Given the description of an element on the screen output the (x, y) to click on. 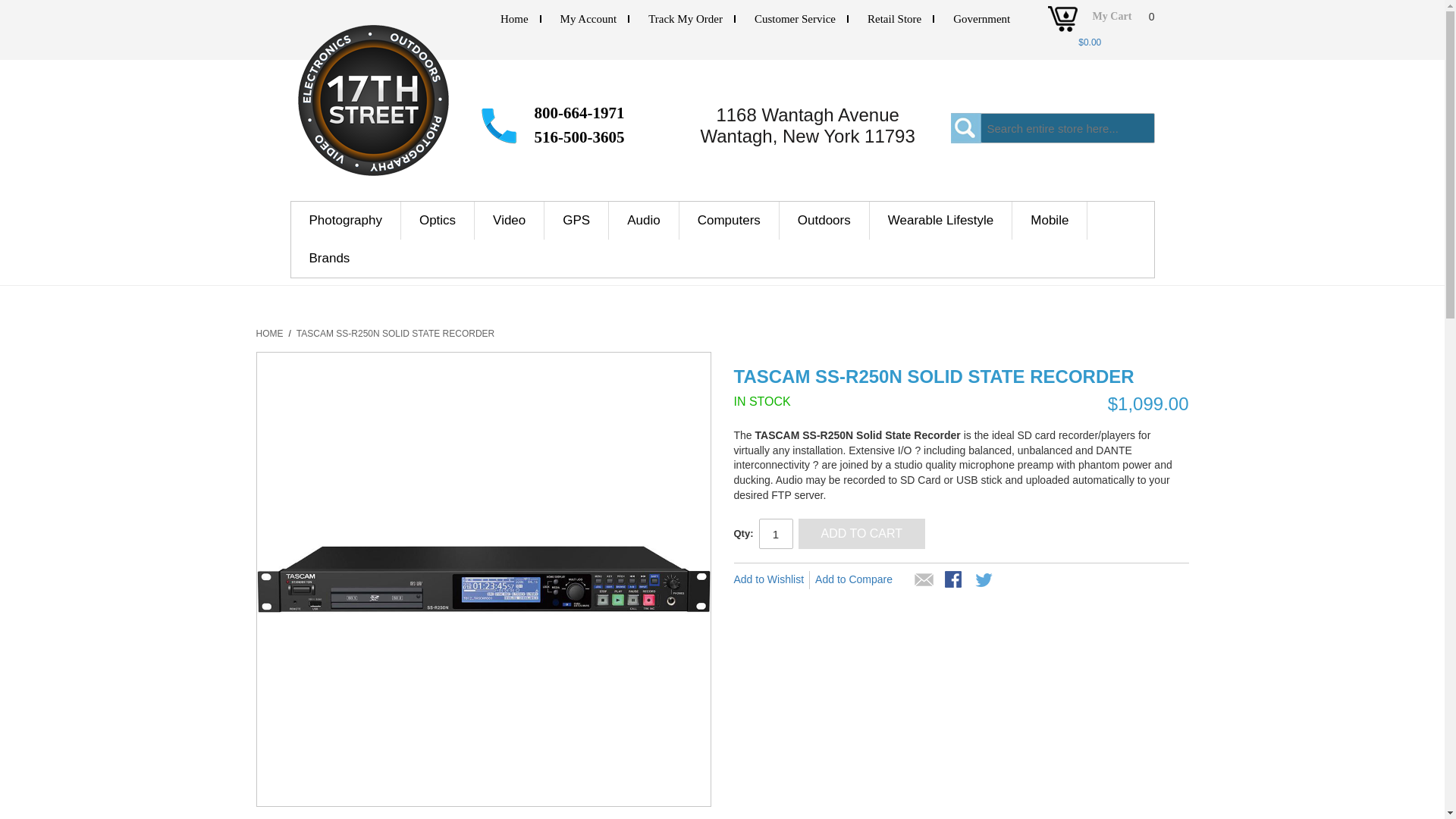
Track My Order (684, 19)
Photography (346, 220)
Go to Home Page (269, 333)
Share on Facebook (953, 580)
Customer Service (794, 19)
Share on Twitter (984, 580)
GPS (576, 220)
Email to a Friend (924, 580)
1 (775, 533)
Qty (775, 533)
